Given the description of an element on the screen output the (x, y) to click on. 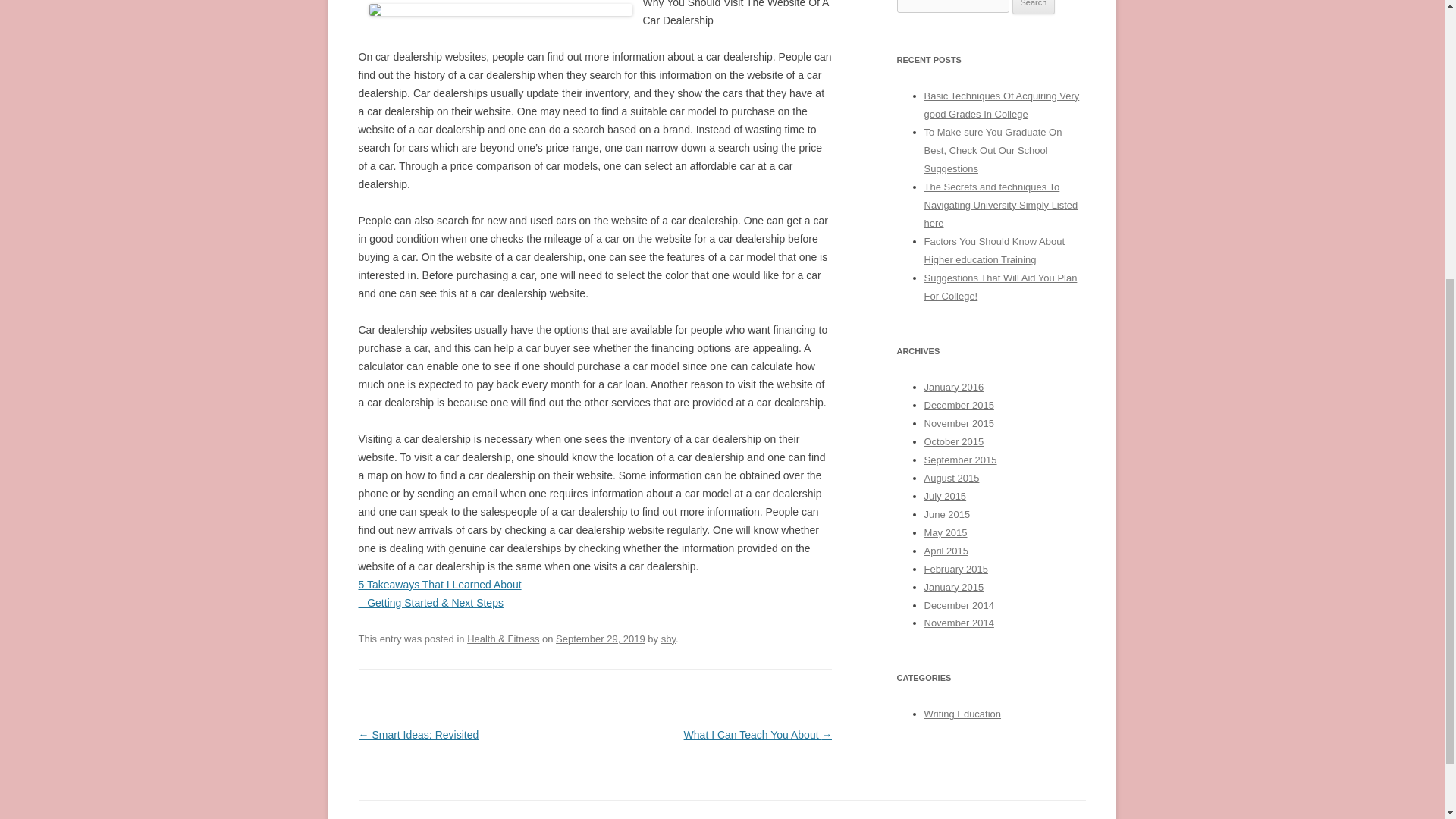
Basic Techniques Of Acquiring Very good Grades In College (1000, 104)
January 2016 (953, 387)
Writing Education (962, 713)
April 2015 (945, 550)
December 2015 (957, 405)
August 2015 (950, 478)
September 29, 2019 (600, 638)
Factors You Should Know About Higher education Training (993, 250)
May 2015 (944, 532)
Search (1033, 7)
November 2014 (957, 622)
Suggestions That Will Aid You Plan For College! (1000, 286)
5 Takeaways That I Learned About (439, 584)
